Given the description of an element on the screen output the (x, y) to click on. 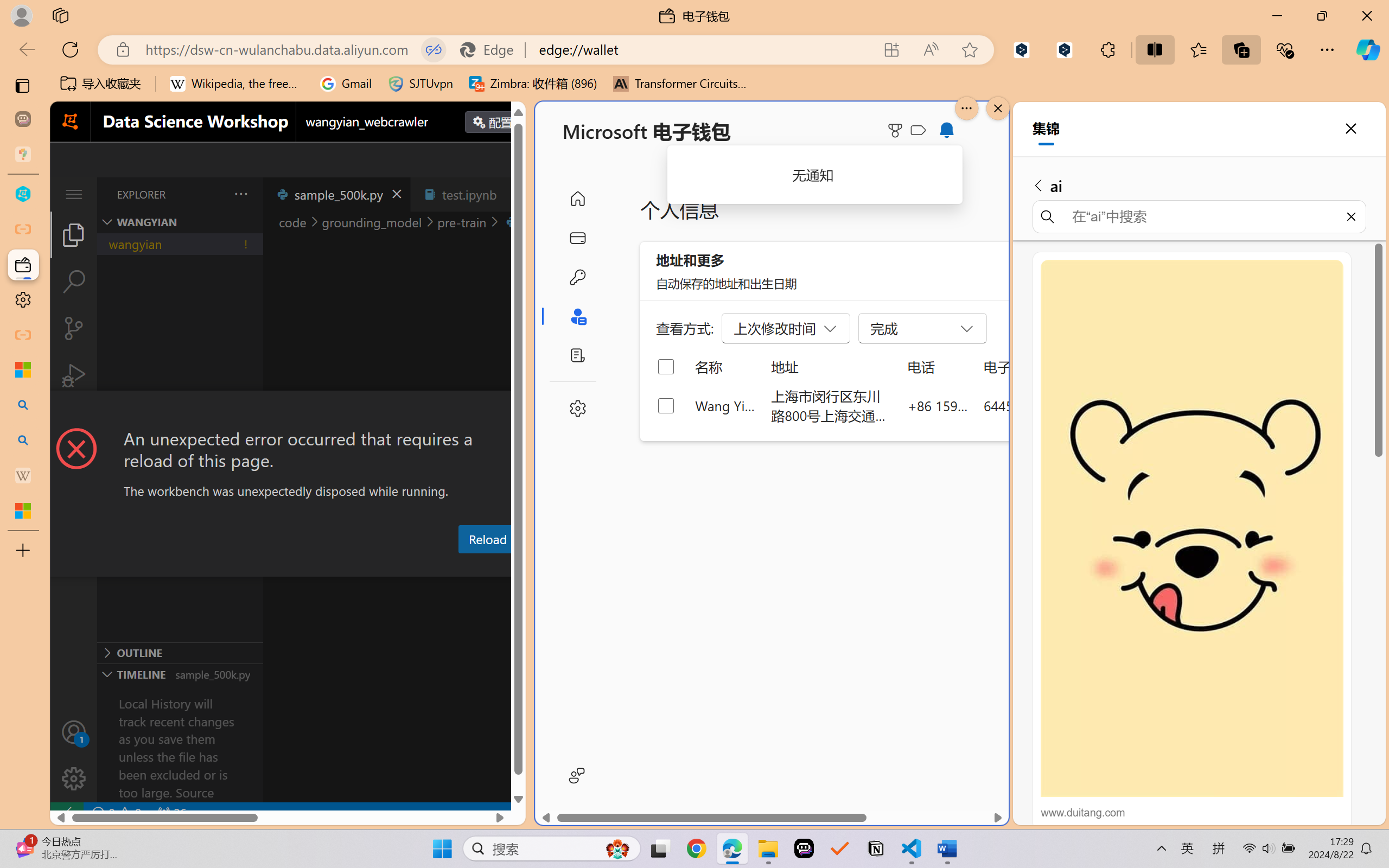
Timeline Section (179, 673)
Source Control (Ctrl+Shift+G) (73, 328)
